Given the description of an element on the screen output the (x, y) to click on. 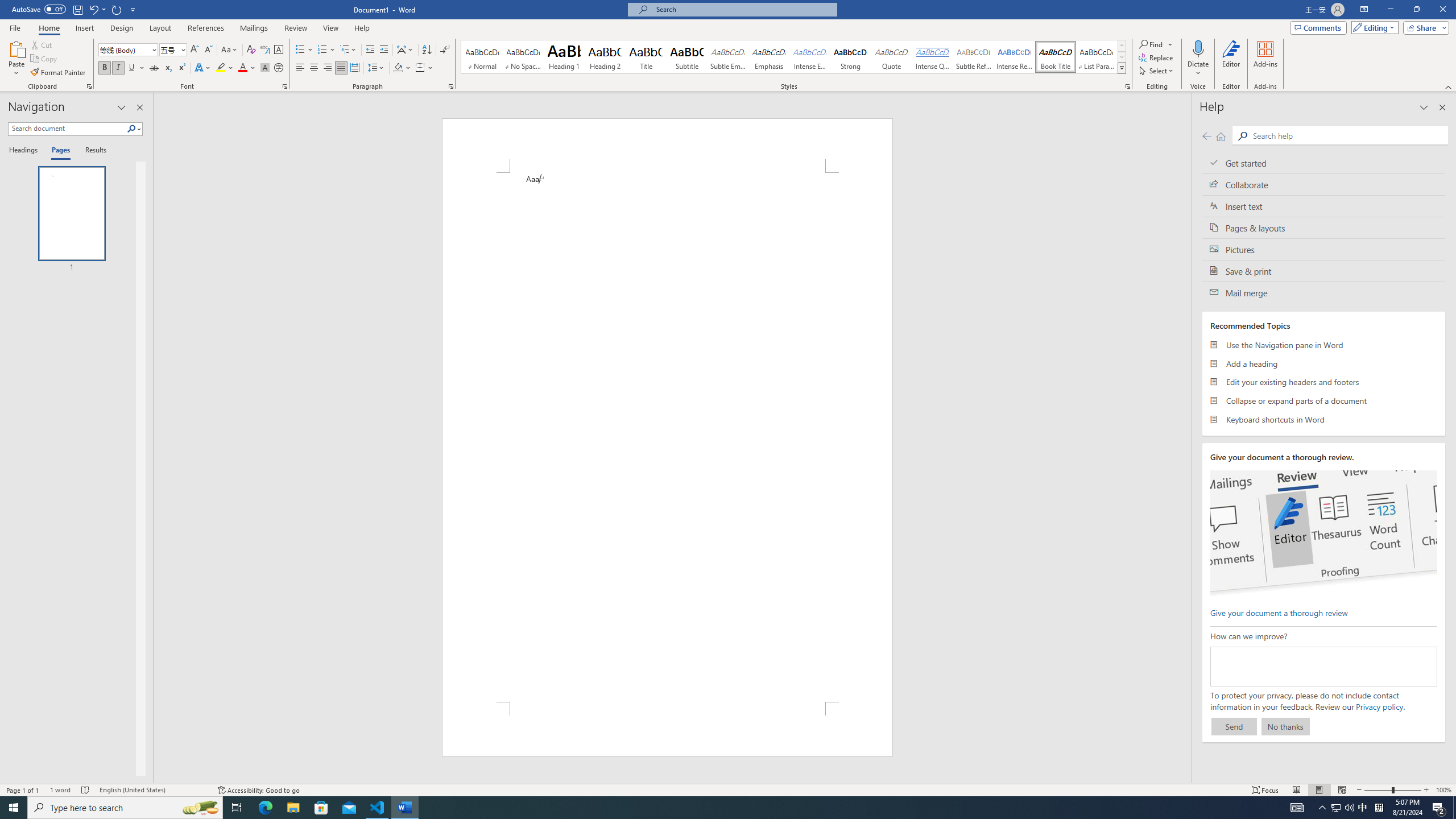
Intense Reference (1014, 56)
Zoom 100% (1443, 790)
Save & print (1323, 270)
